Given the description of an element on the screen output the (x, y) to click on. 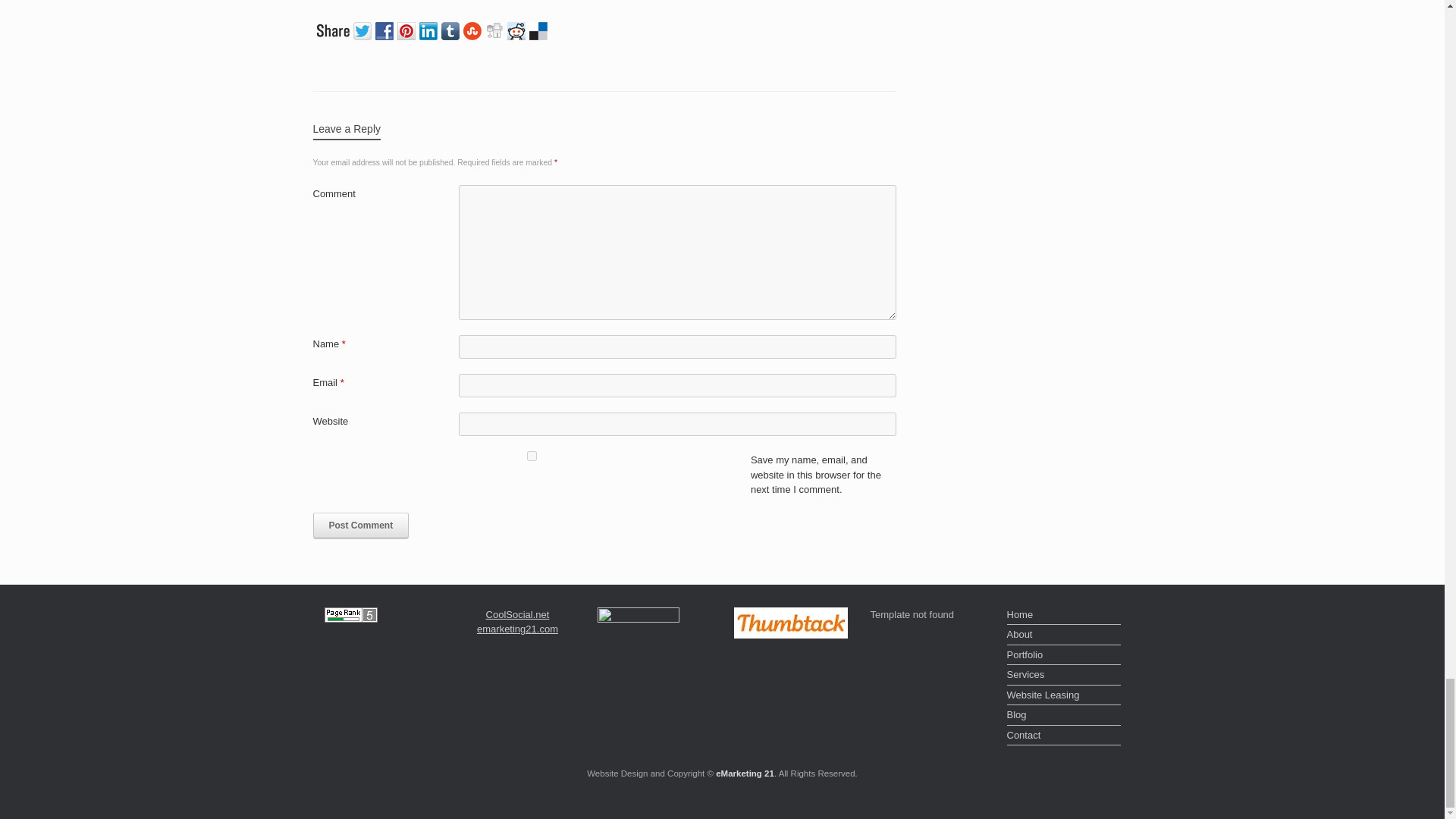
Post Comment (361, 525)
yes (531, 456)
